Given the description of an element on the screen output the (x, y) to click on. 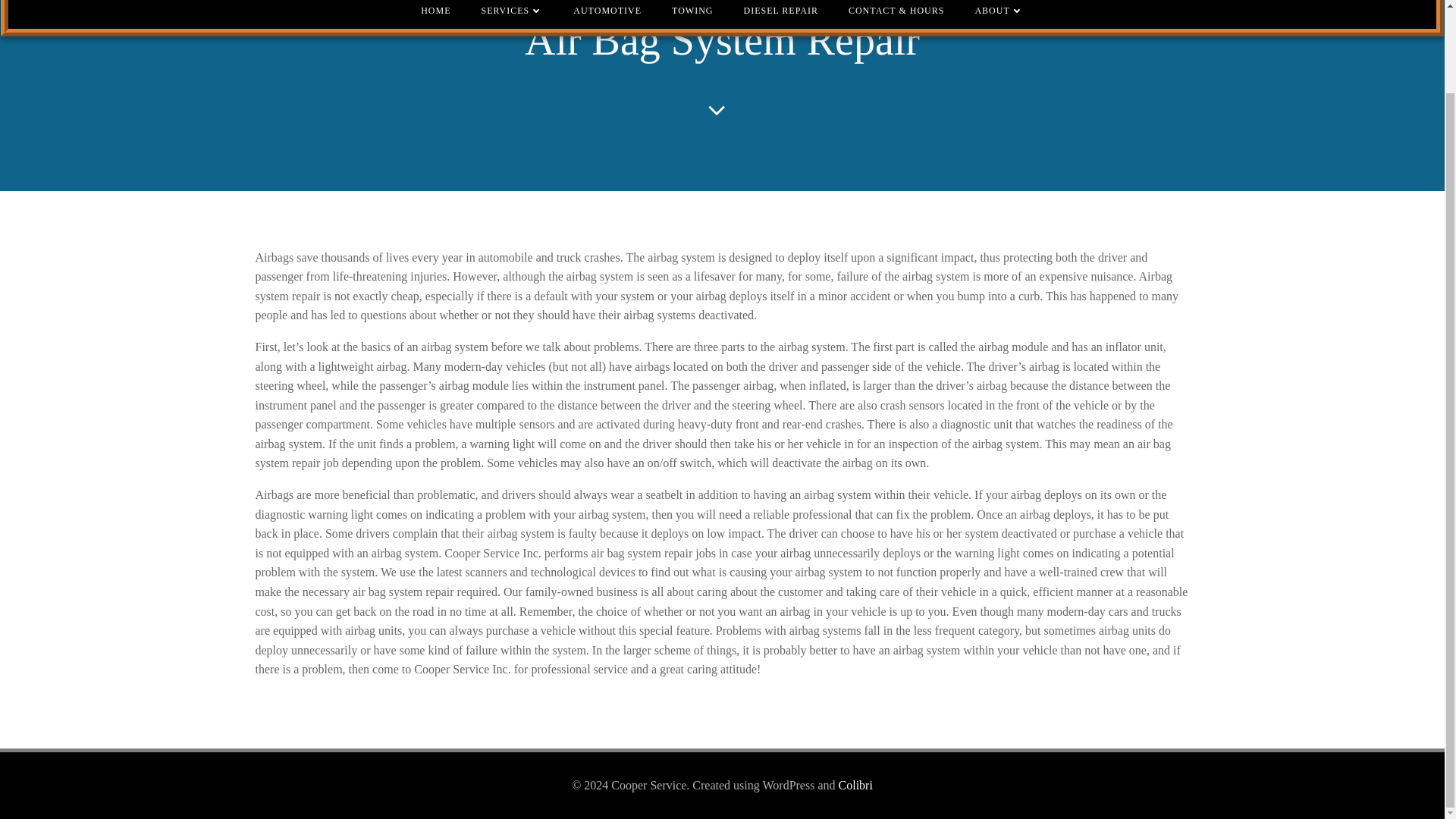
SERVICES (512, 10)
ABOUT (998, 10)
TOWING (692, 10)
DIESEL REPAIR (779, 10)
HOME (434, 10)
AUTOMOTIVE (607, 10)
